Given the description of an element on the screen output the (x, y) to click on. 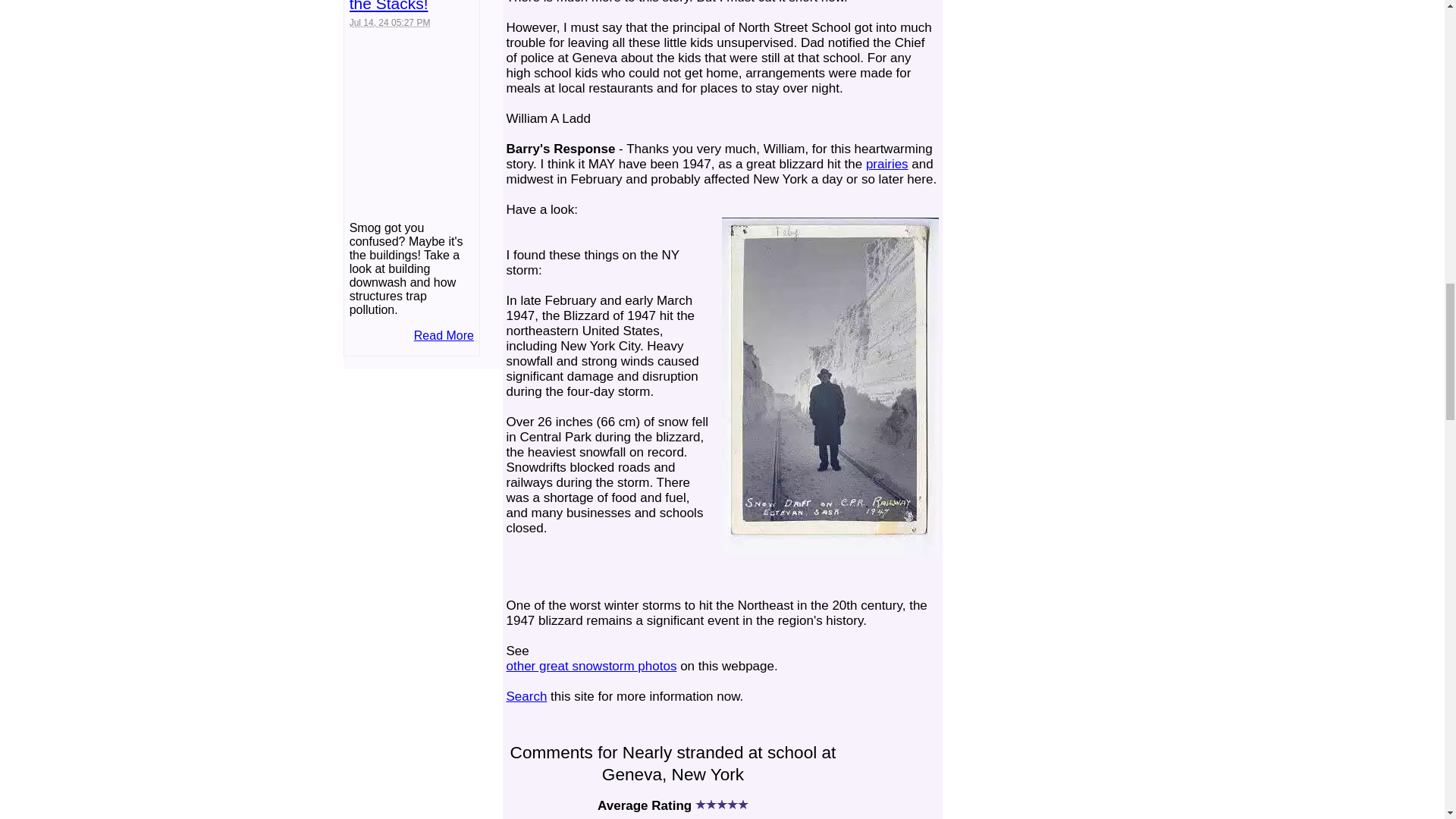
prairies (887, 164)
Search (526, 696)
other great snowstorm photos (591, 666)
2024-07-14T17:27:17-0400 (389, 22)
